Given the description of an element on the screen output the (x, y) to click on. 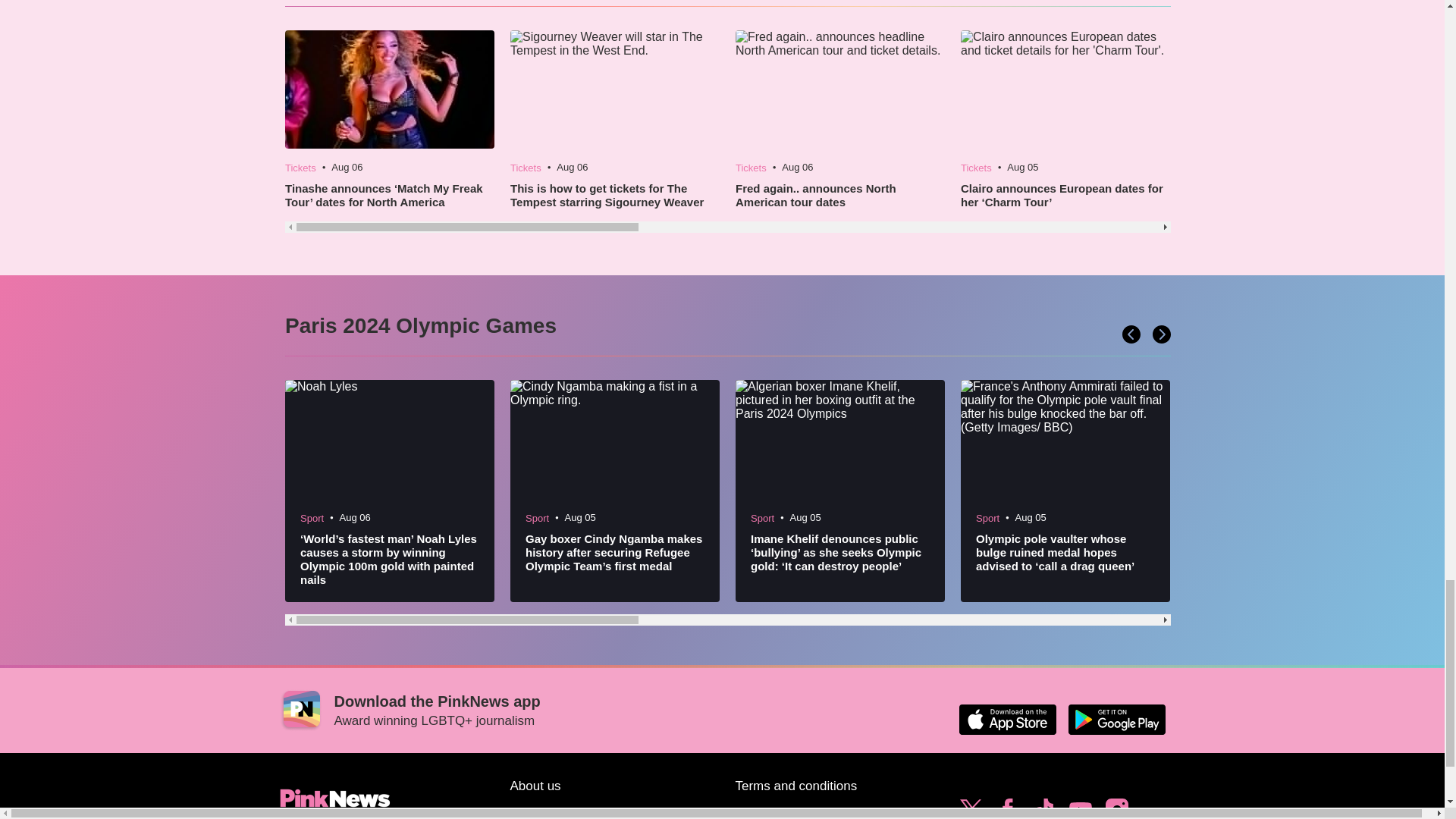
Follow PinkNews on TikTok (1042, 807)
Download the PinkNews app on the Apple App Store (1006, 719)
Subscribe to PinkNews on YouTube (1079, 807)
Follow PinkNews on Instagram (1116, 807)
Download the PinkNews app on Google Play (1115, 719)
Follow PinkNews on Facebook (1007, 807)
Follow PinkNews on Twitter (970, 807)
